Given the description of an element on the screen output the (x, y) to click on. 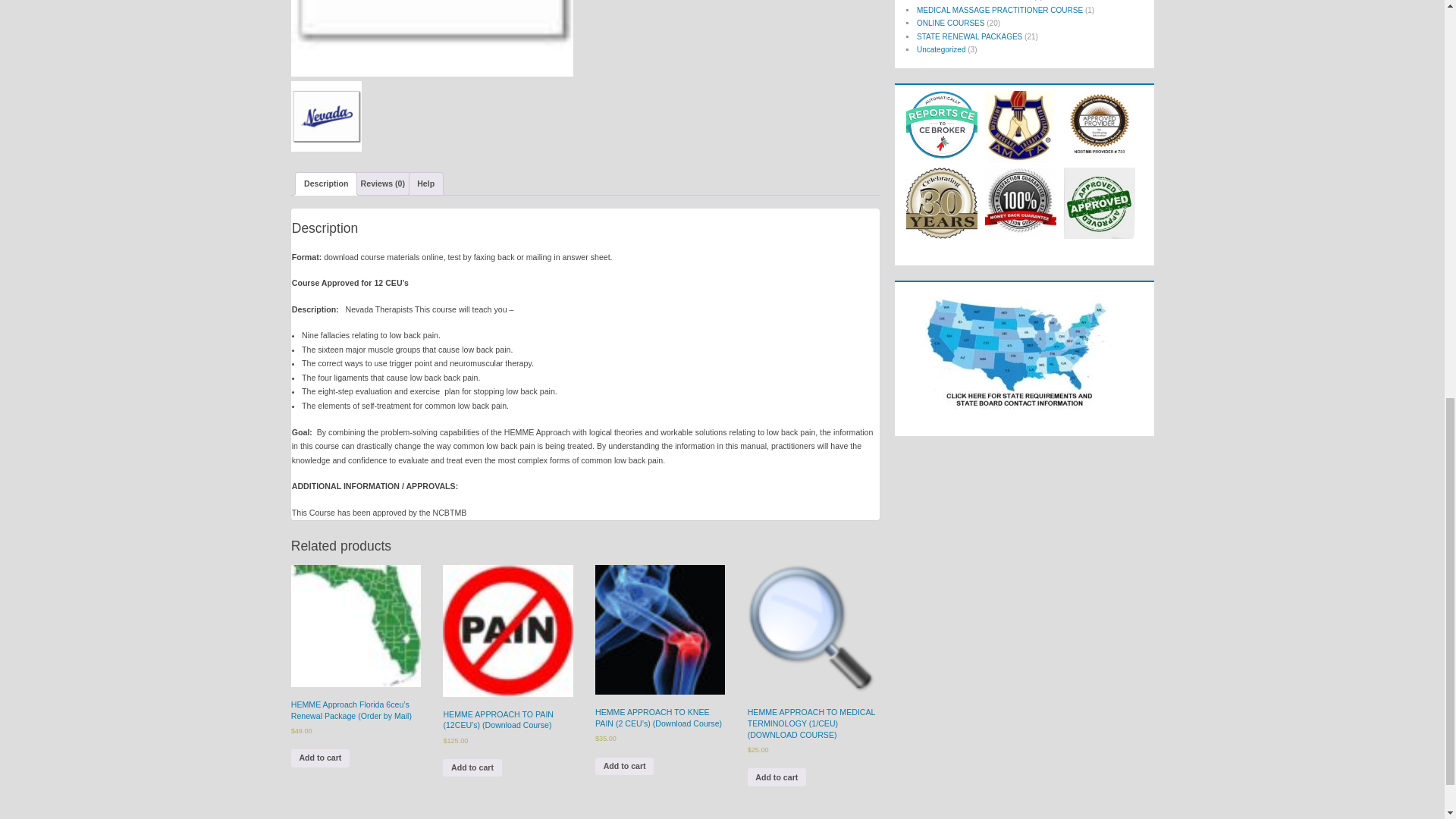
NV (432, 38)
Add to cart (320, 758)
NV (326, 116)
Description (325, 183)
